Given the description of an element on the screen output the (x, y) to click on. 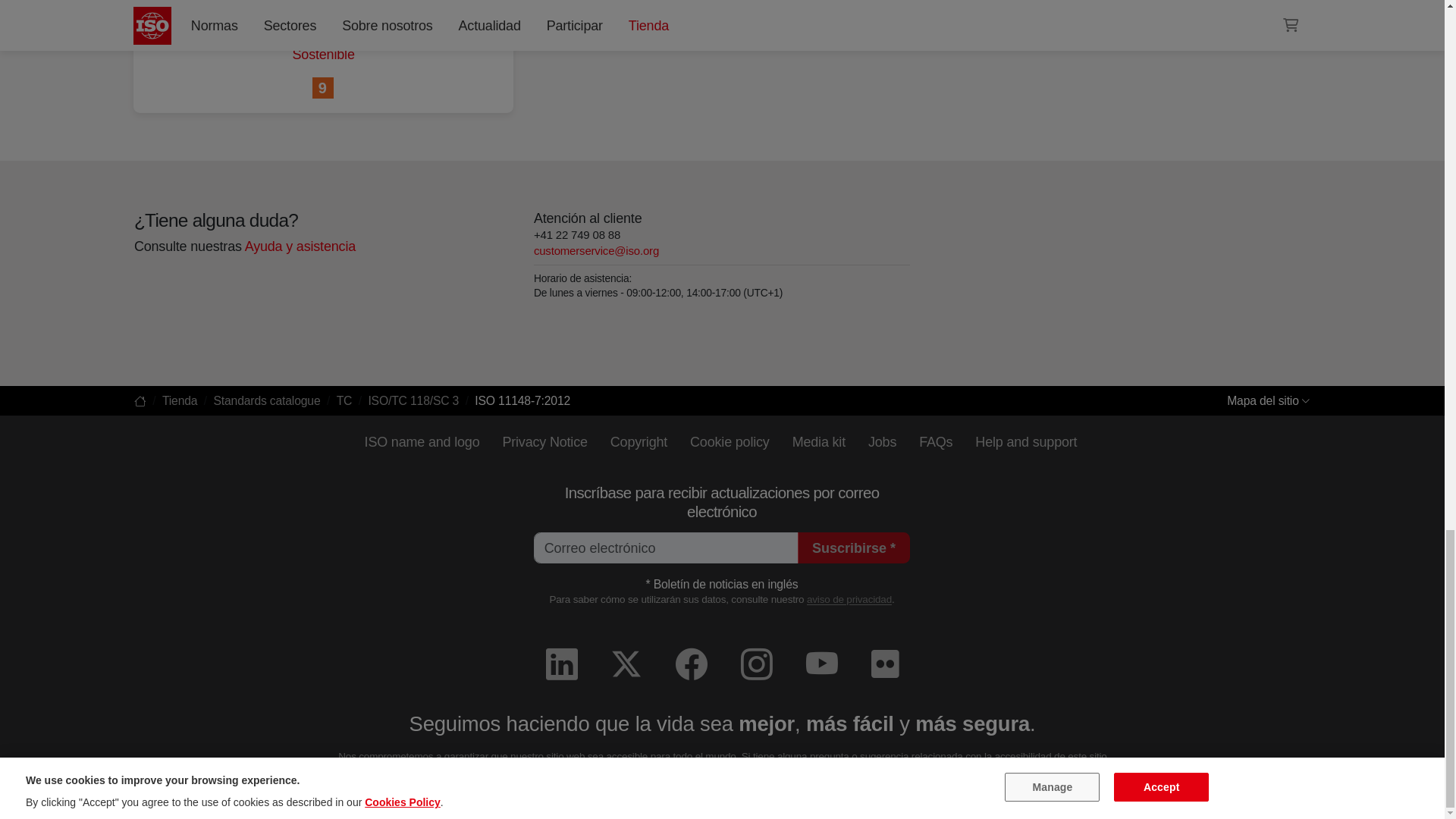
Industry, Innovation and Infrastructure (323, 87)
